Given the description of an element on the screen output the (x, y) to click on. 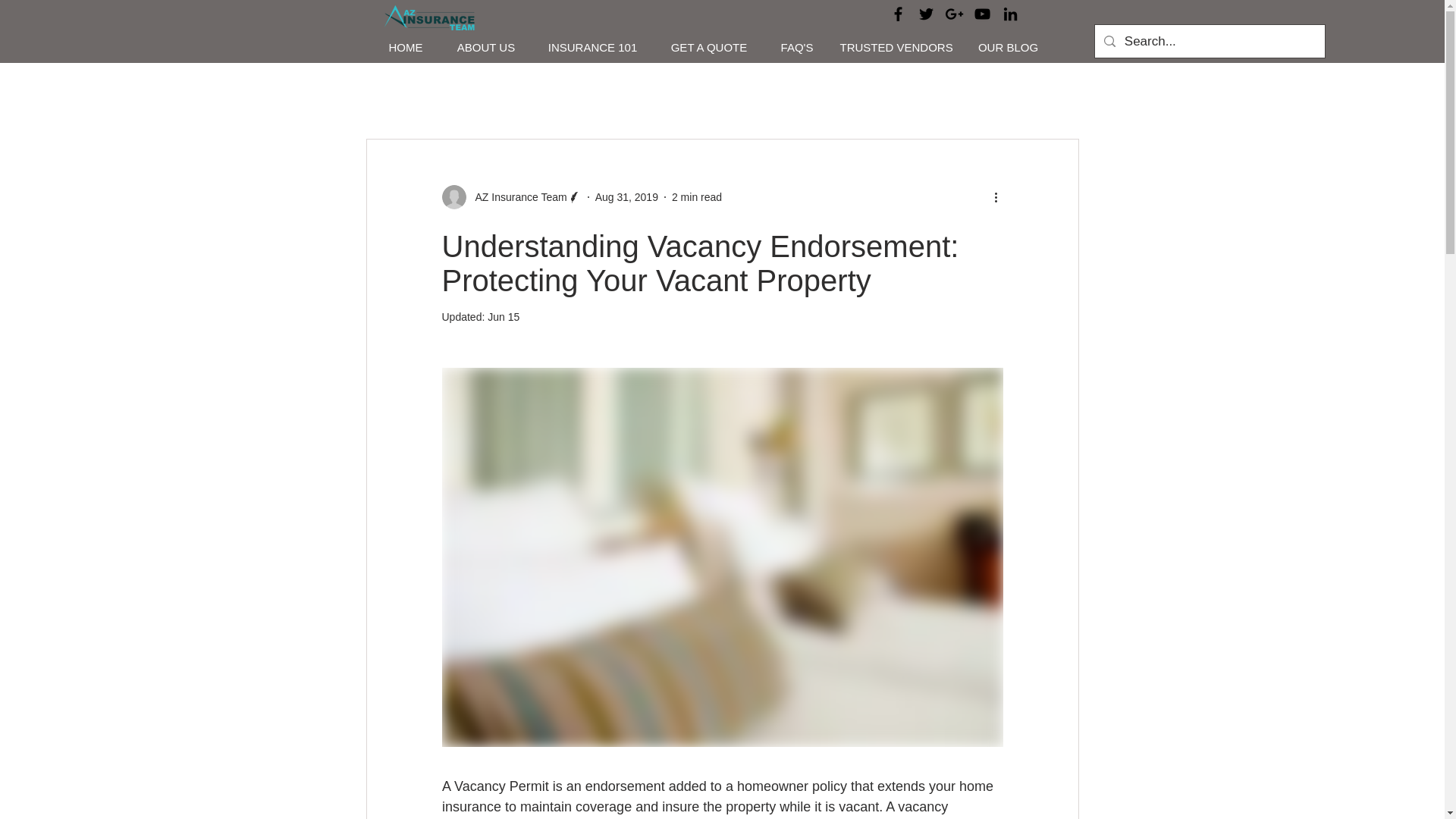
AZ Insurance Team (515, 197)
HOME (405, 47)
2 min read (696, 196)
Life Insurance (599, 93)
Jun 15 (503, 316)
Real Estate Investor Insurance (755, 93)
OUR BLOG (1008, 47)
ABOUT US (486, 47)
Aug 31, 2019 (626, 196)
INSURANCE 101 (592, 47)
